Given the description of an element on the screen output the (x, y) to click on. 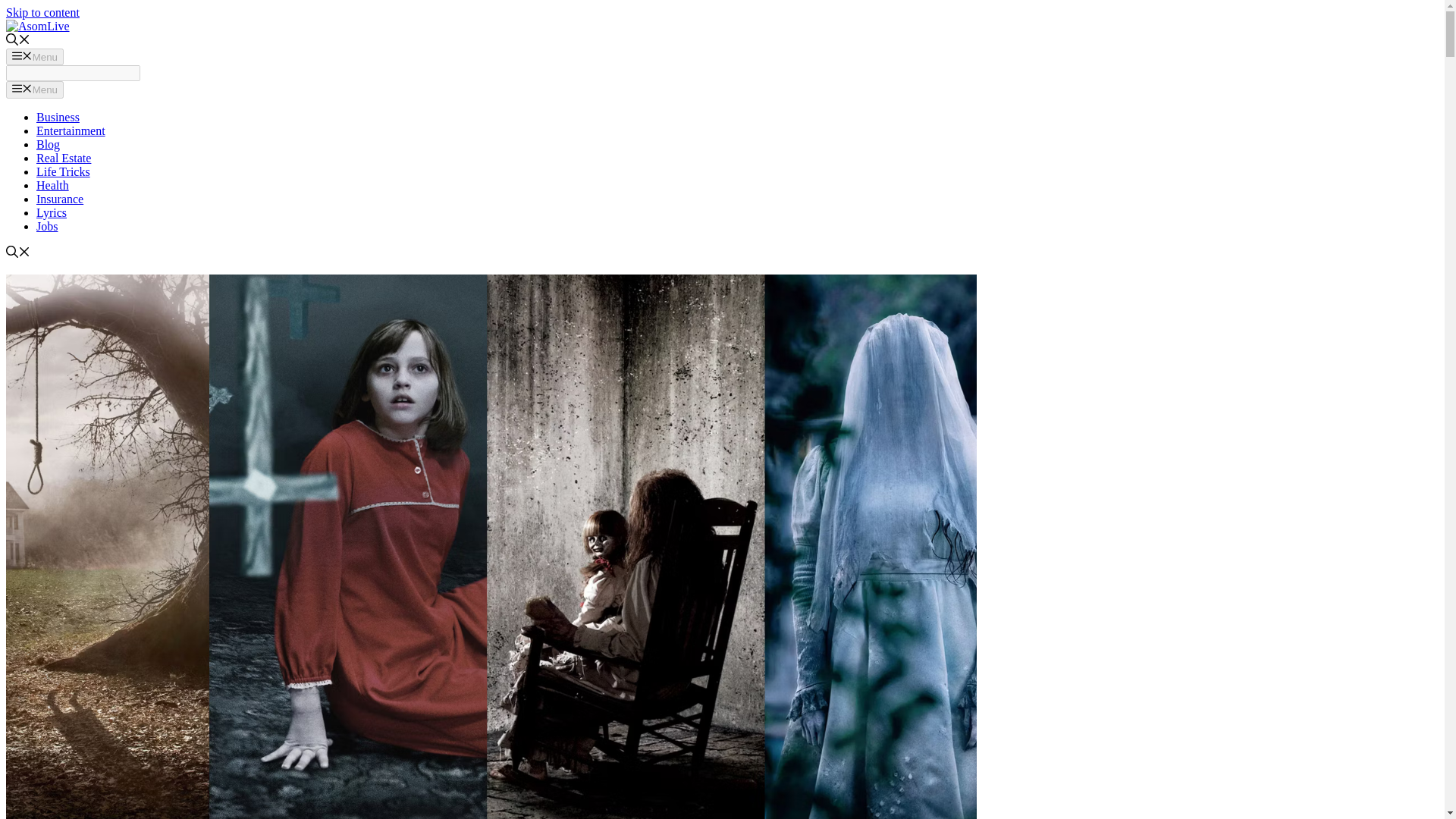
Skip to content (42, 11)
Insurance (59, 198)
Blog (47, 144)
Life Tricks (63, 171)
Lyrics (51, 212)
Search (72, 73)
Jobs (47, 226)
Health (52, 185)
Entertainment (70, 130)
Menu (34, 89)
Business (58, 116)
Real Estate (63, 157)
Menu (34, 56)
Skip to content (42, 11)
